Given the description of an element on the screen output the (x, y) to click on. 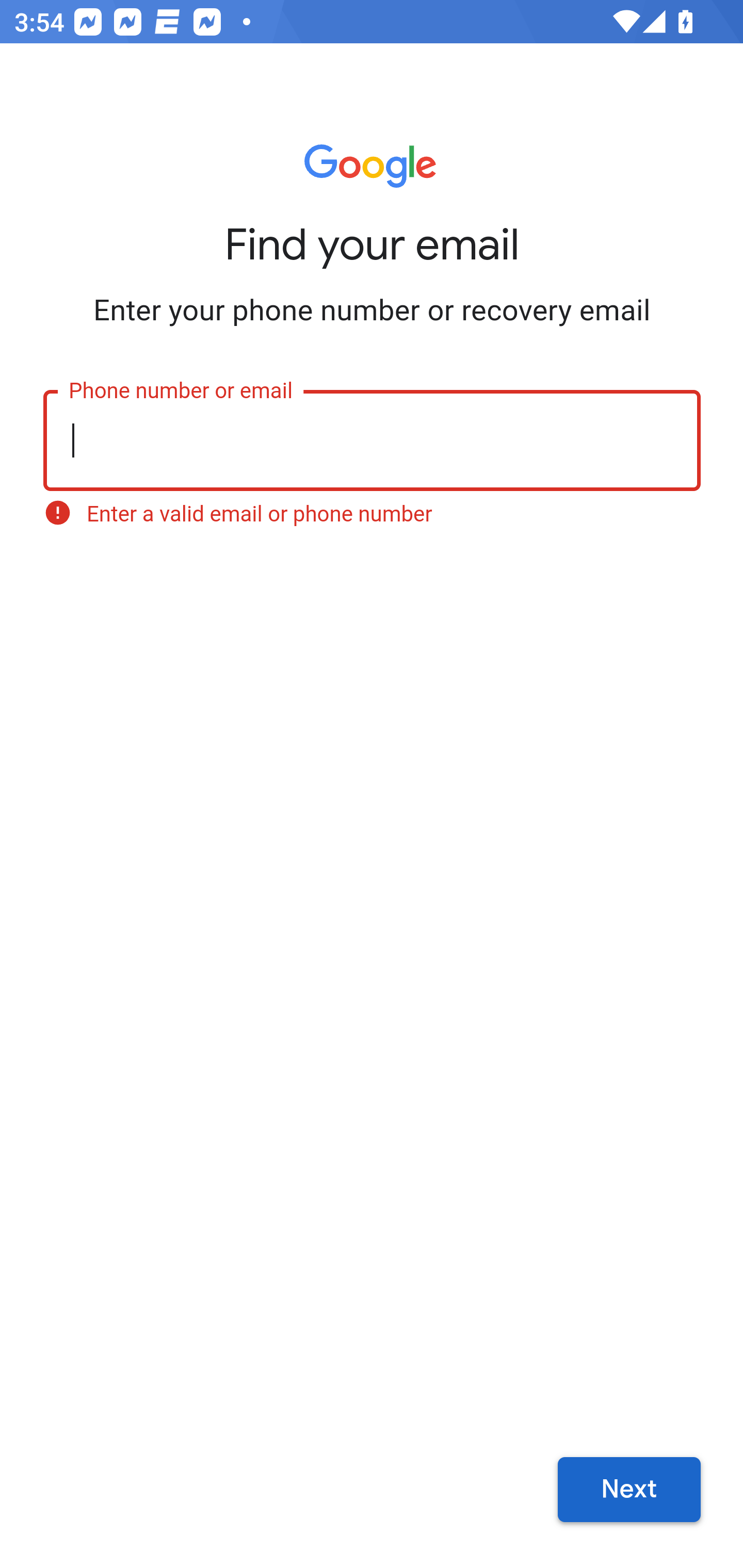
Next (629, 1490)
